Given the description of an element on the screen output the (x, y) to click on. 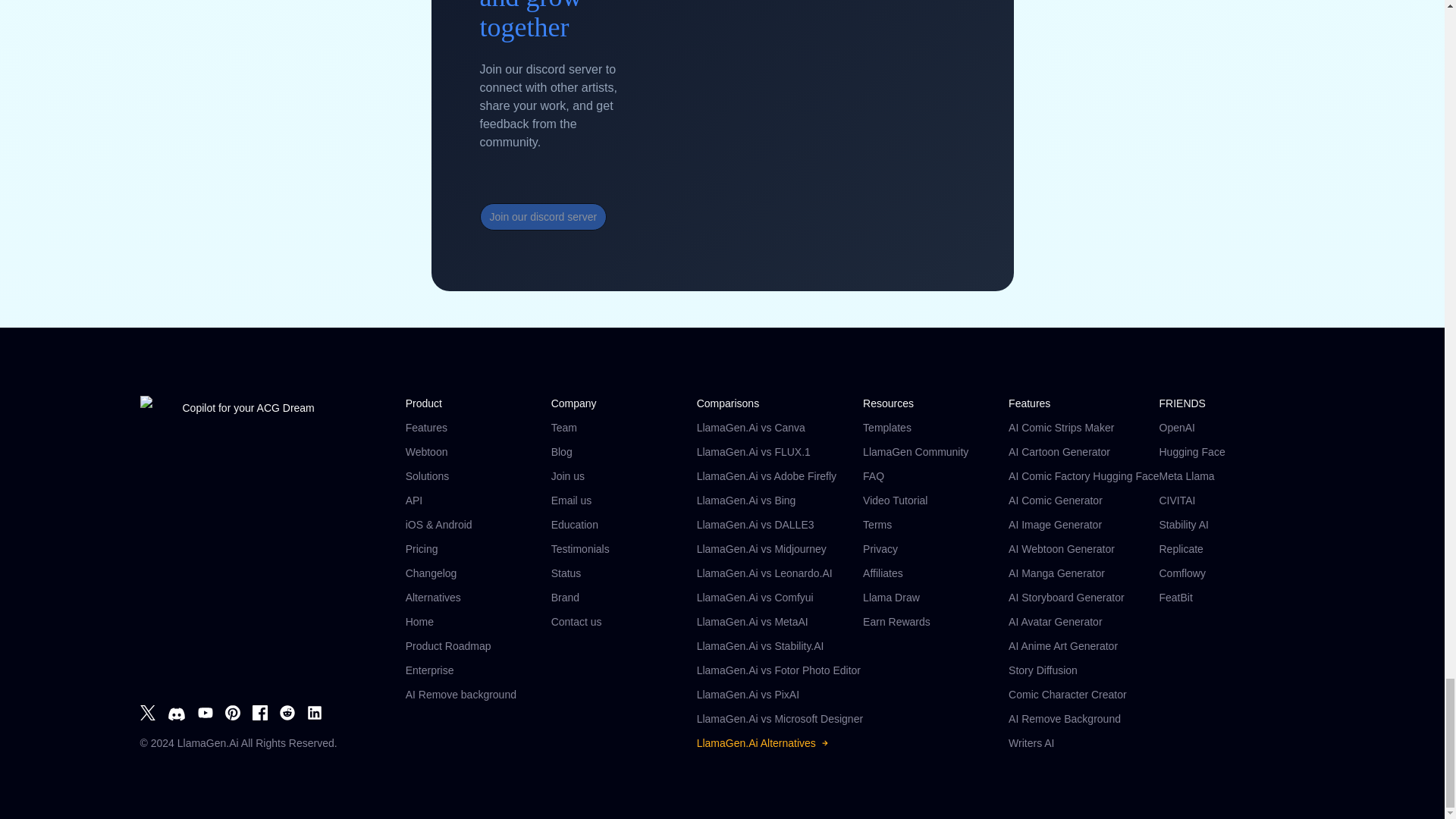
Join our discord server (543, 216)
Join our discord server (553, 216)
Features (478, 427)
